Given the description of an element on the screen output the (x, y) to click on. 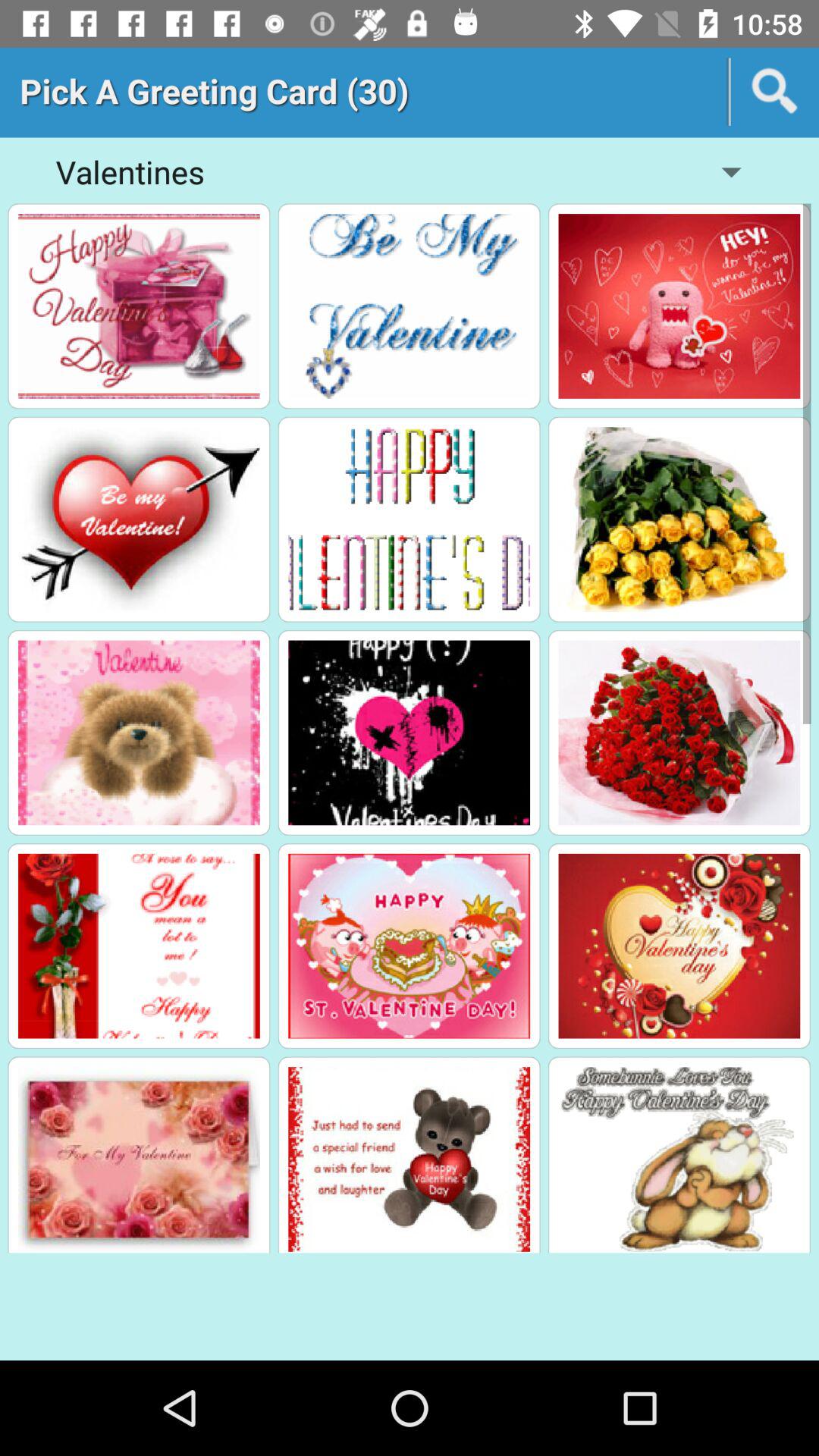
click the second image (408, 306)
select the last image in third column (679, 1159)
select the image of last row first image (139, 1159)
select the 5th image from the top (408, 518)
select the first image in fourth row (139, 946)
select the second image in the third row (408, 732)
